Given the description of an element on the screen output the (x, y) to click on. 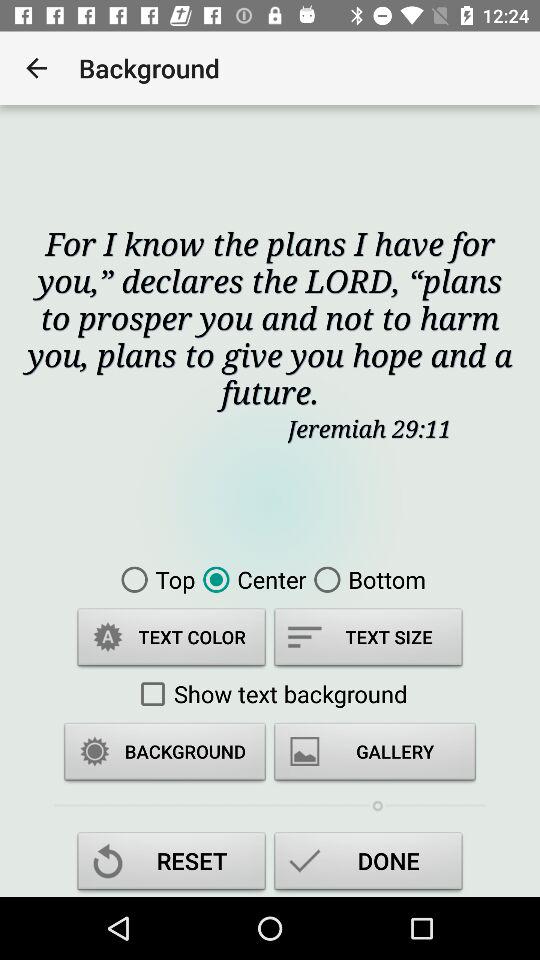
click icon to the right of the top item (250, 579)
